Given the description of an element on the screen output the (x, y) to click on. 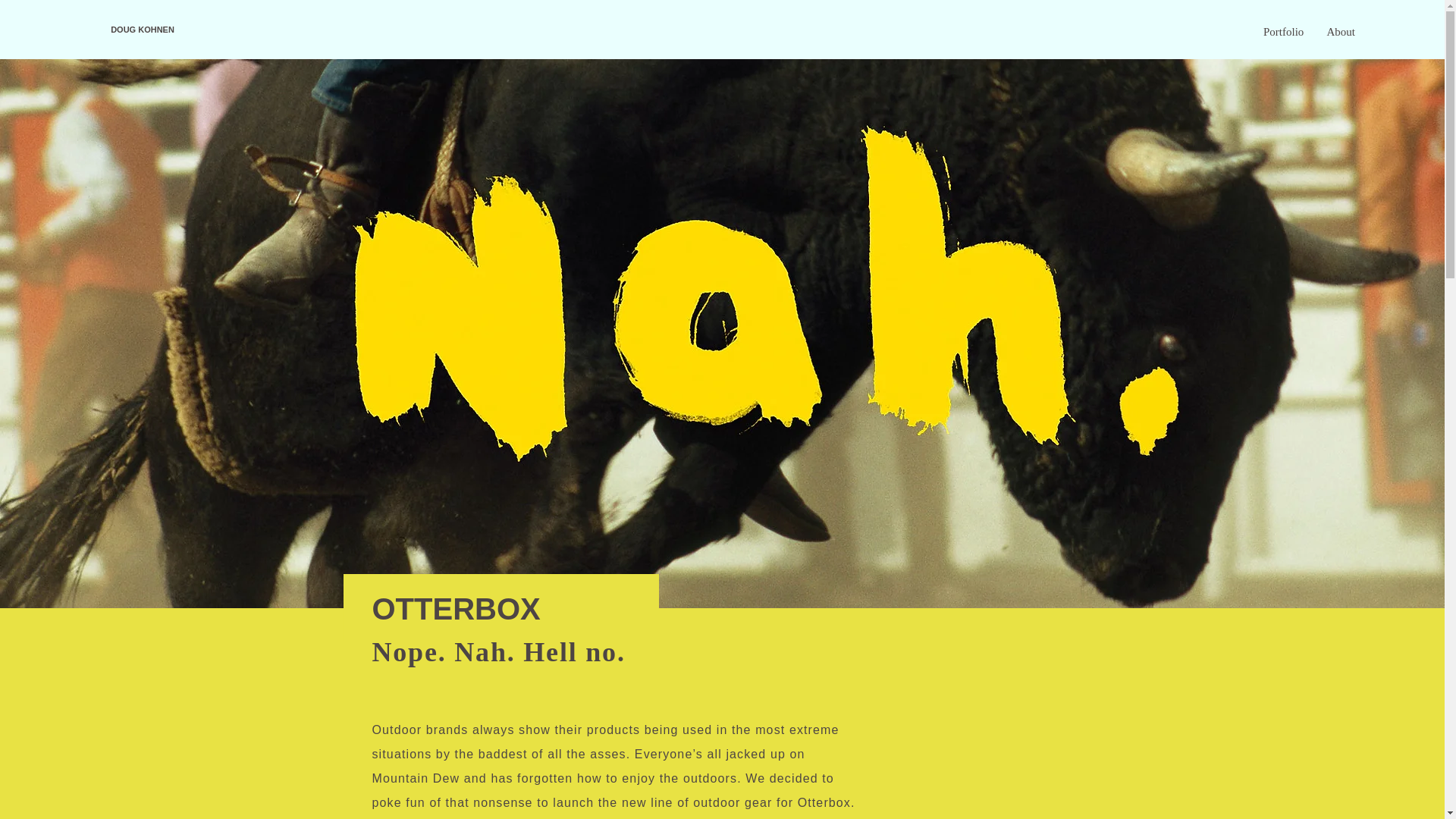
About (1340, 31)
Portfolio (1283, 31)
DOUG KOHNEN (142, 30)
